Given the description of an element on the screen output the (x, y) to click on. 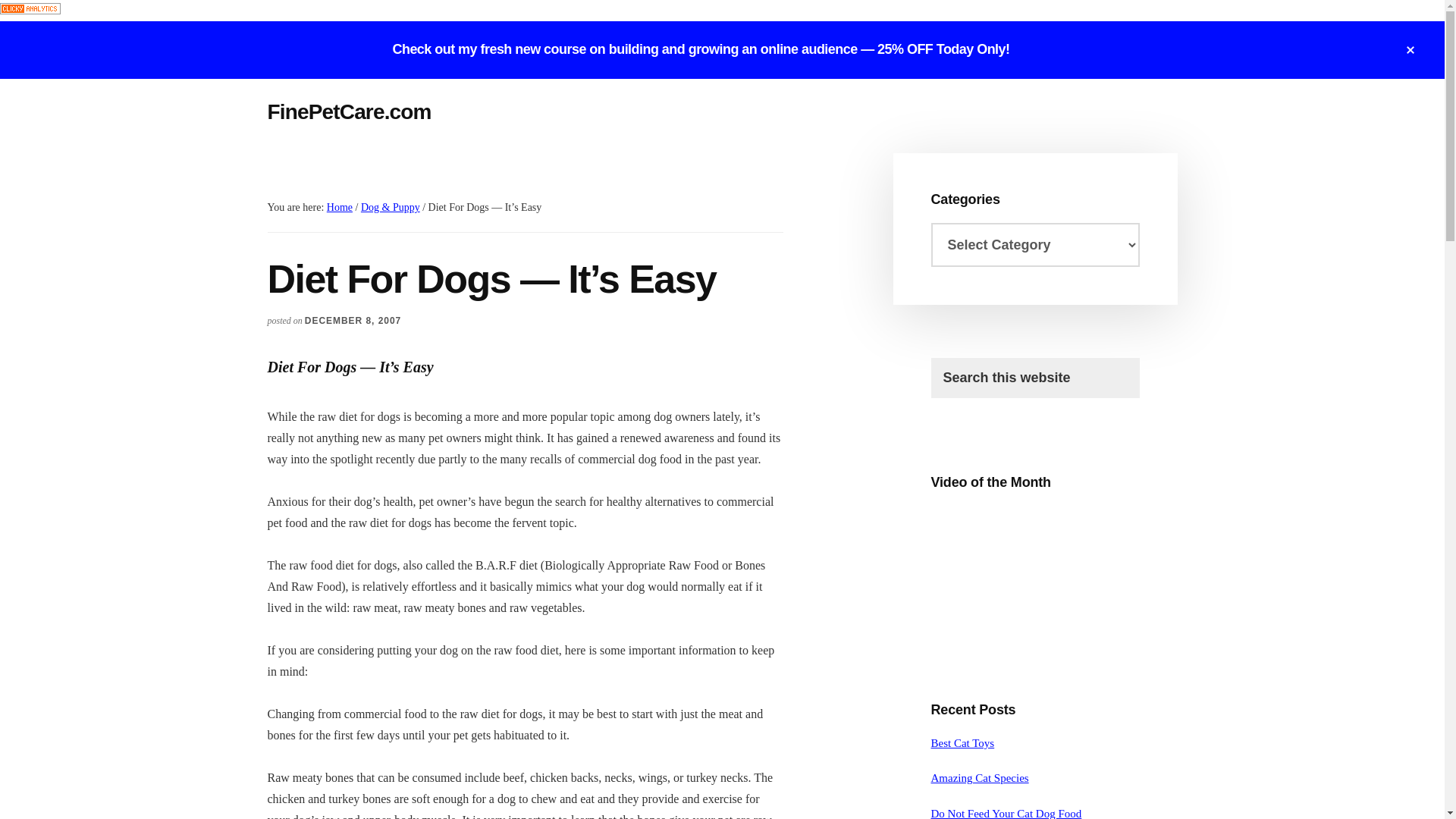
Home (339, 206)
Do Not Feed Your Cat Dog Food (1006, 813)
Real Time Web Analytics (30, 10)
Amazing Cat Species (980, 777)
Best Cat Toys (962, 743)
FinePetCare.com (348, 111)
